Given the description of an element on the screen output the (x, y) to click on. 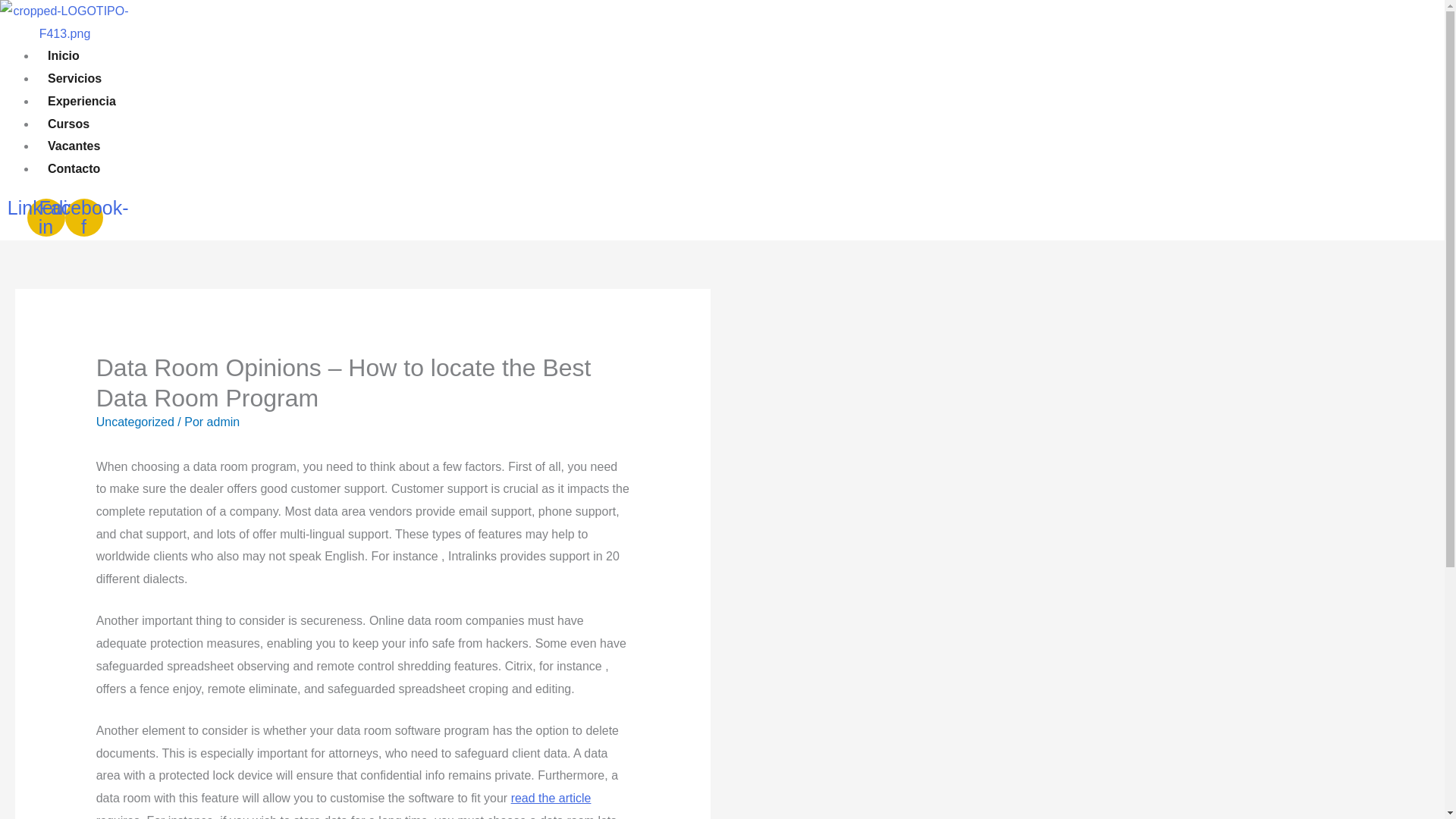
read the article (551, 797)
Vacantes (74, 145)
Inicio (63, 55)
Linkedin-in (46, 217)
Servicios (74, 78)
Ver todas las entradas de admin (223, 421)
Facebook-f (84, 217)
Uncategorized (135, 421)
Contacto (74, 168)
Experiencia (82, 100)
admin (223, 421)
Cursos (68, 123)
